Given the description of an element on the screen output the (x, y) to click on. 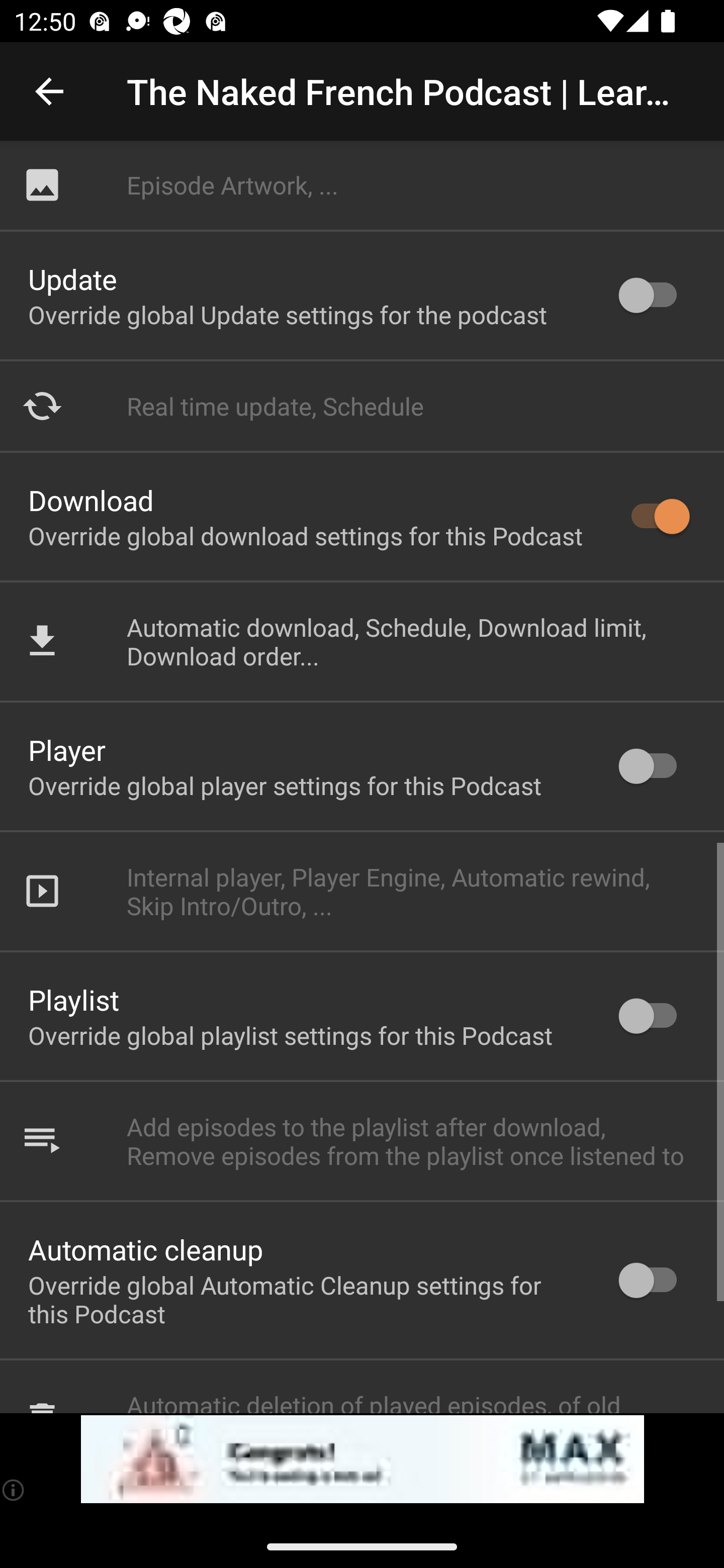
Navigate up (49, 91)
Episode Artwork, ... (362, 184)
Real time update, Schedule (362, 405)
app-monetization (362, 1459)
(i) (14, 1489)
